Given the description of an element on the screen output the (x, y) to click on. 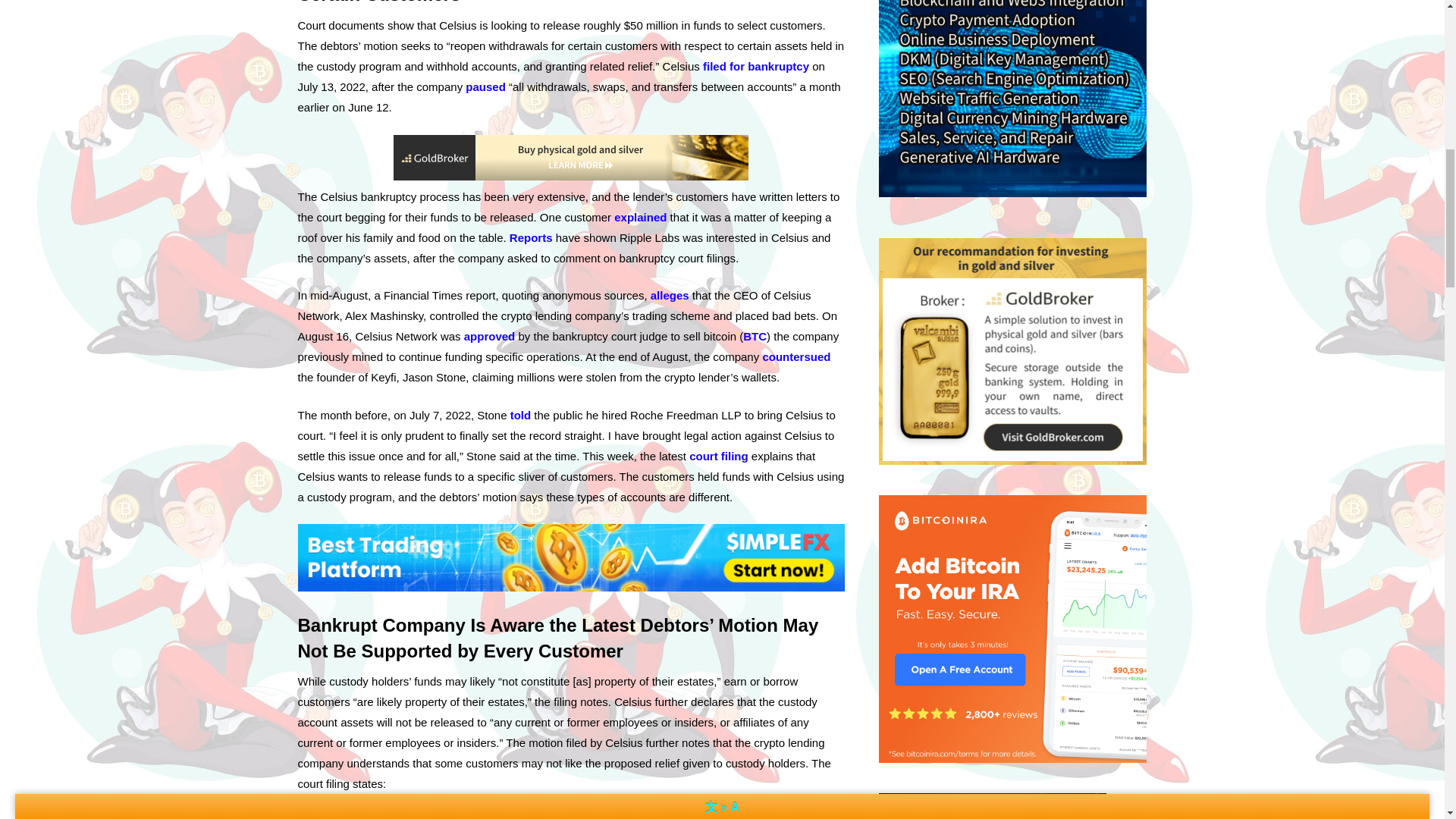
paused (485, 86)
told (521, 414)
explained (640, 216)
filed for bankruptcy (756, 65)
alleges (669, 295)
approved (489, 336)
BTC (754, 336)
court filing (718, 455)
Reports (531, 237)
countersued (795, 356)
